Given the description of an element on the screen output the (x, y) to click on. 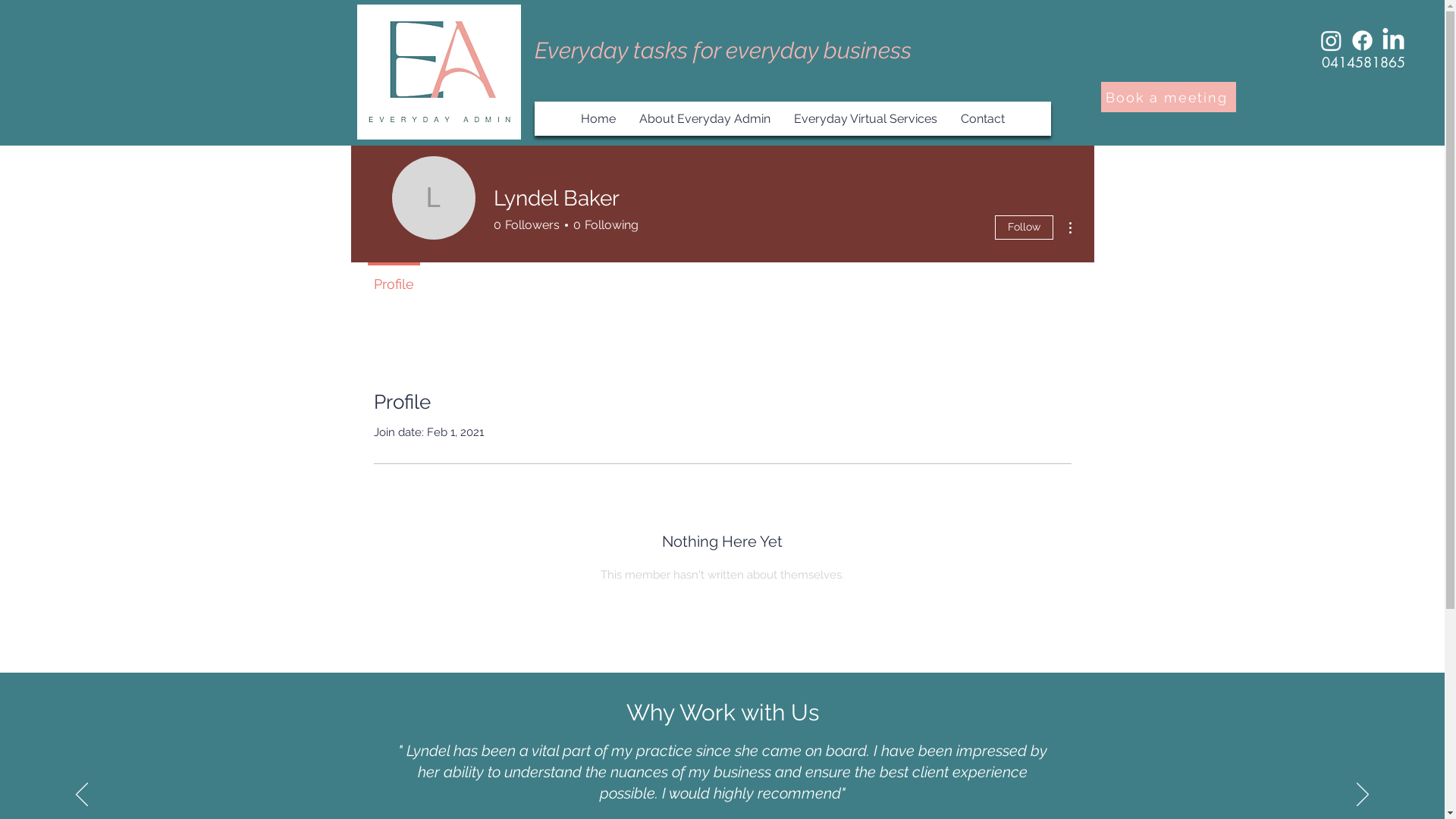
0
Followers Element type: text (525, 224)
Everyday Virtual Services Element type: text (864, 118)
Contact Element type: text (982, 118)
Home Element type: text (597, 118)
About Everyday Admin Element type: text (704, 118)
Profile Element type: text (392, 277)
0414581865 Element type: text (1363, 62)
Book a meeting Element type: text (1168, 96)
0
Following Element type: text (602, 224)
Follow Element type: text (1023, 227)
